Given the description of an element on the screen output the (x, y) to click on. 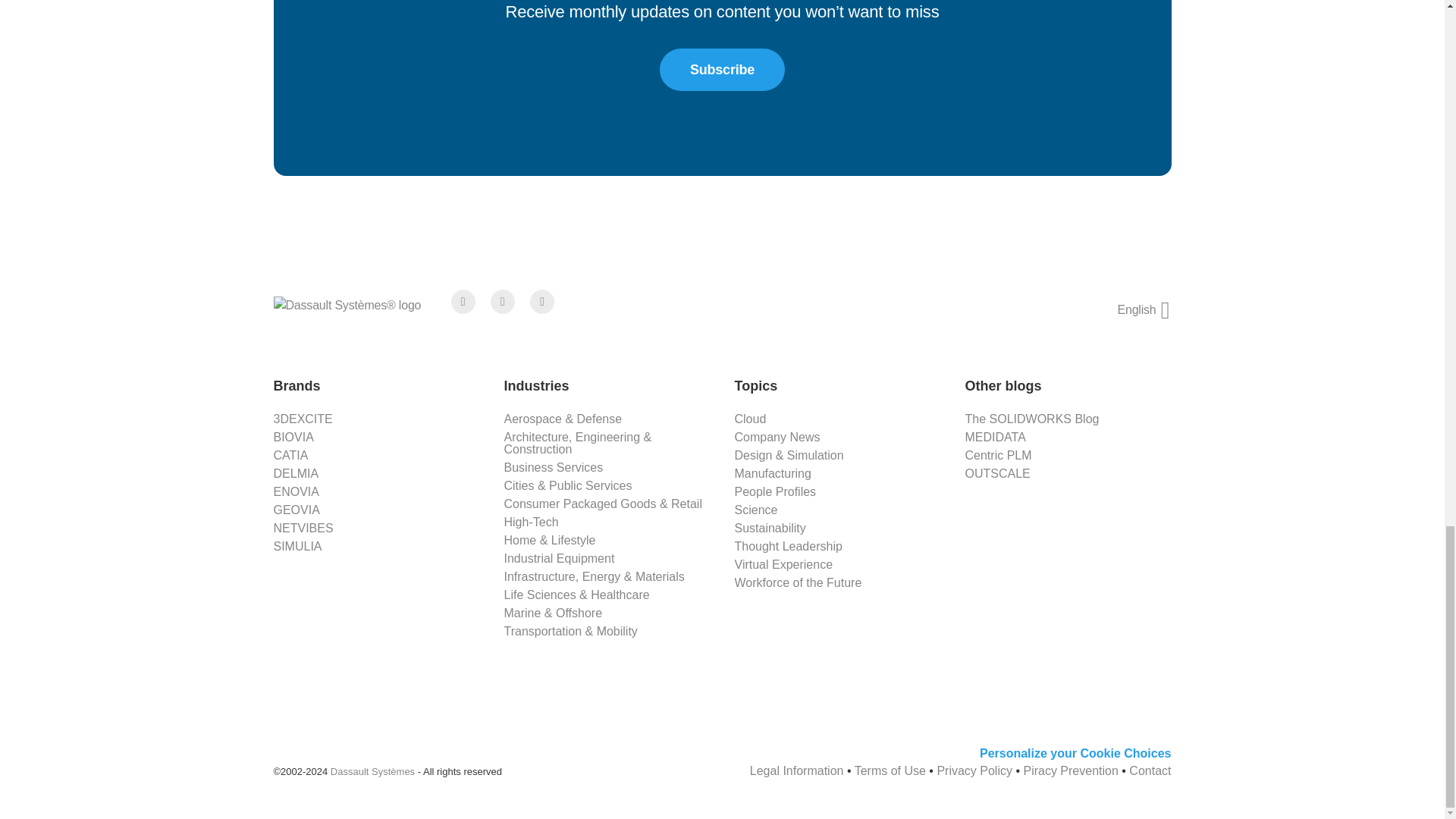
Linkedin account (541, 302)
Twitter account (502, 302)
Facebook account (463, 302)
